Given the description of an element on the screen output the (x, y) to click on. 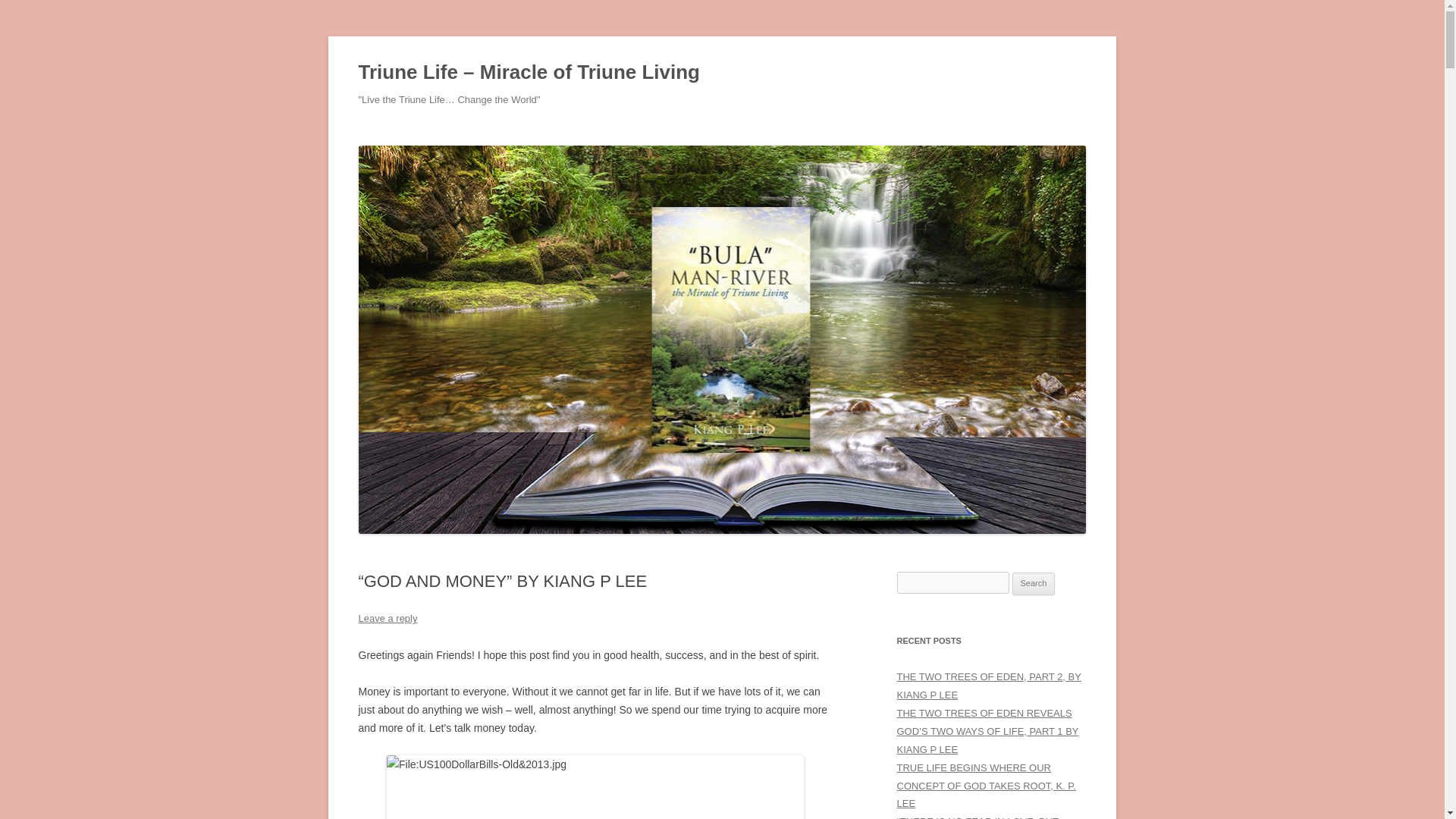
Leave a reply (387, 618)
THE TWO TREES OF EDEN, PART 2, BY KIANG P LEE (988, 685)
Search (1033, 583)
Search (1033, 583)
